Given the description of an element on the screen output the (x, y) to click on. 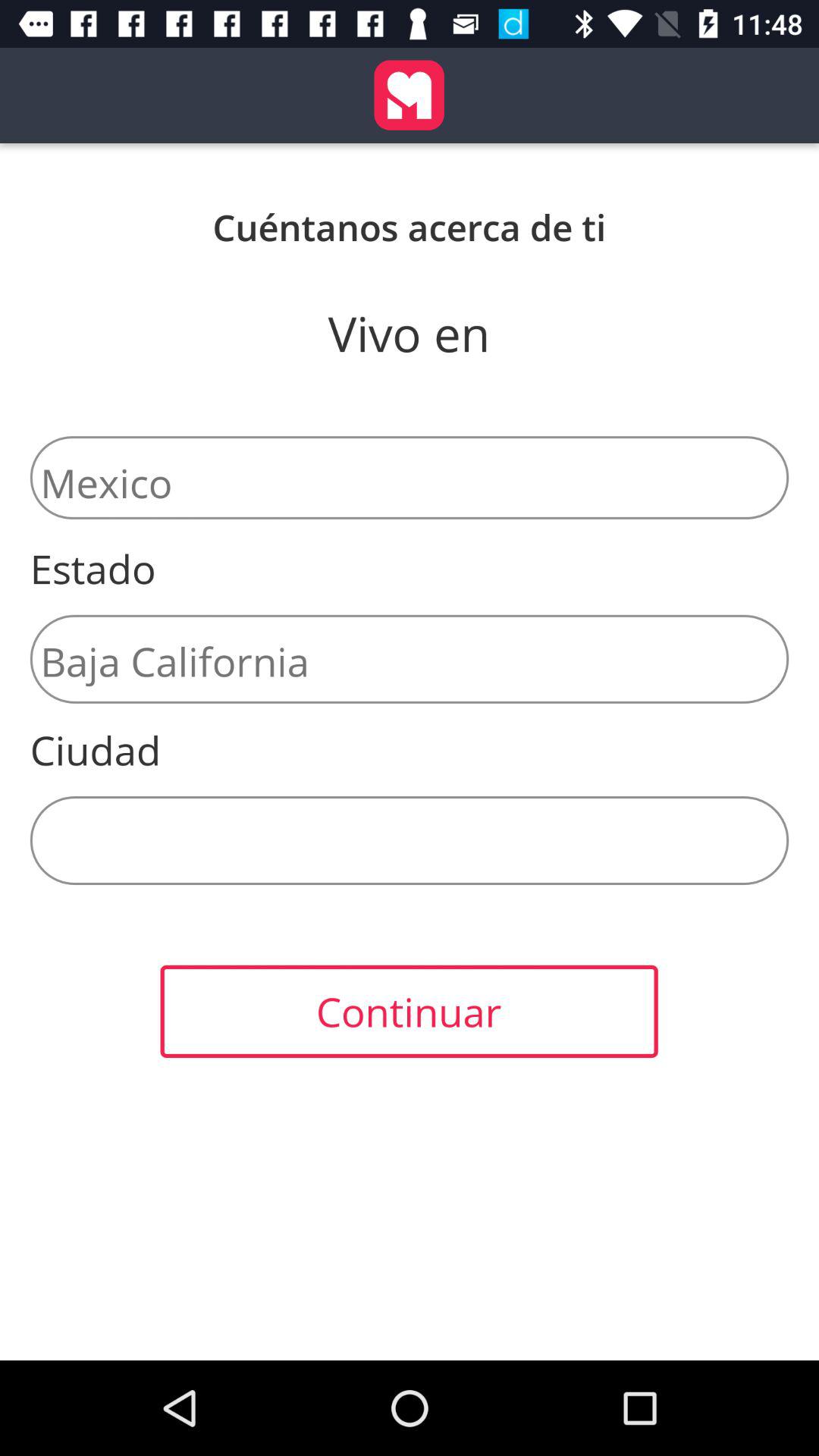
turn on the mexico icon (409, 477)
